Given the description of an element on the screen output the (x, y) to click on. 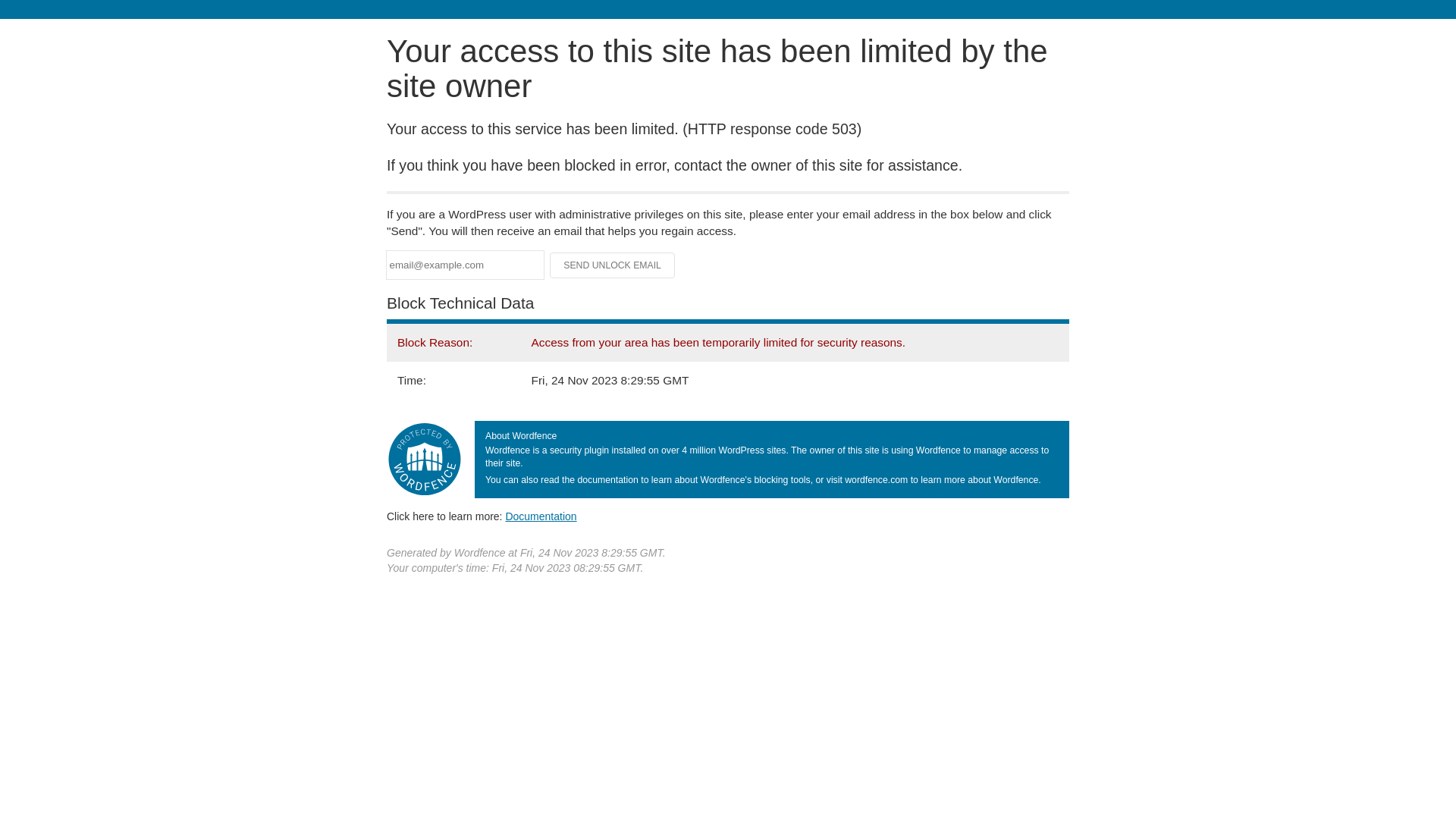
Documentation Element type: text (540, 516)
Send Unlock Email Element type: text (612, 265)
